Given the description of an element on the screen output the (x, y) to click on. 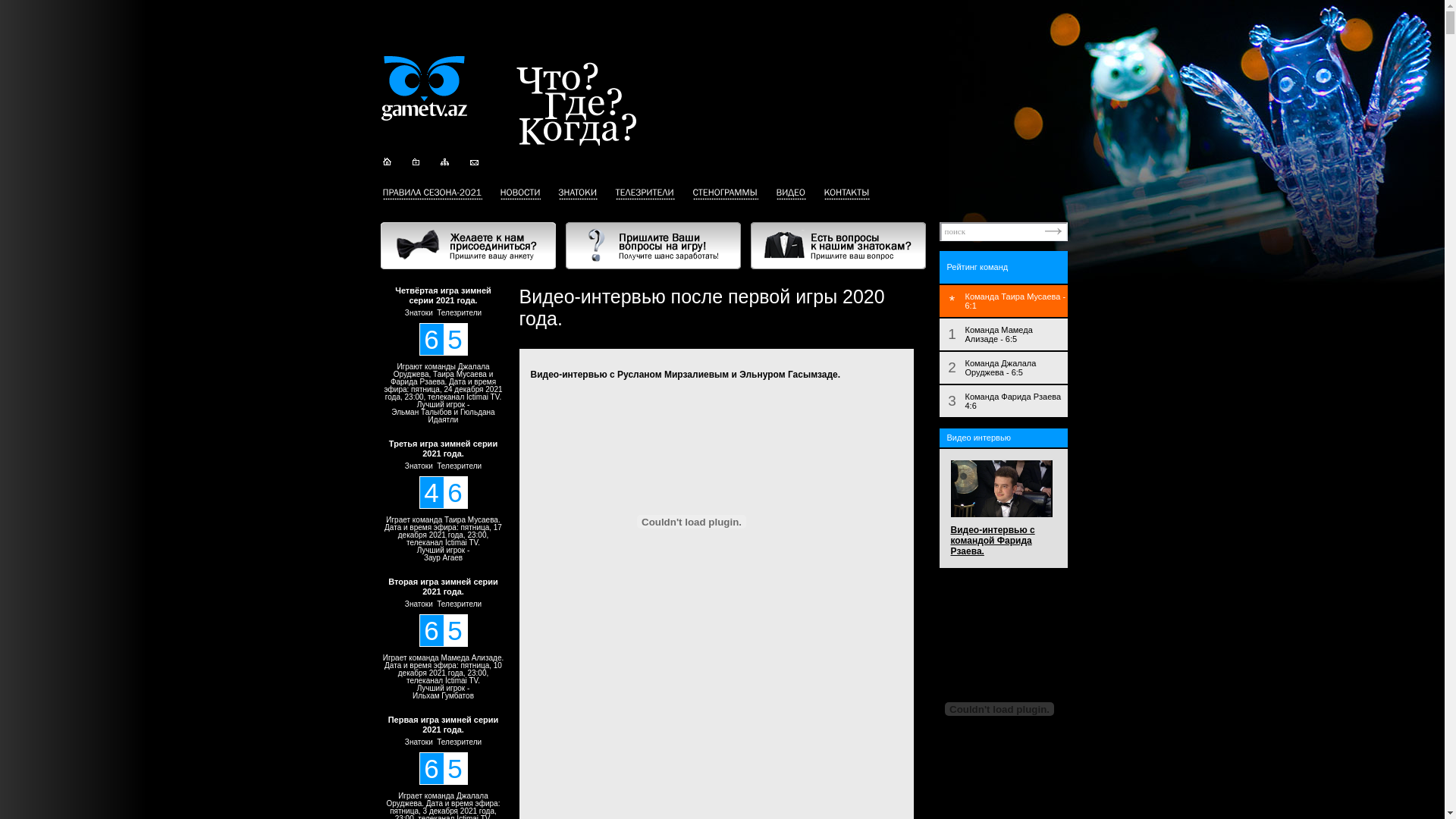
6 5 Element type: text (442, 339)
4 6 Element type: text (442, 492)
6 5 Element type: text (442, 768)
6 5 Element type: text (442, 630)
